Given the description of an element on the screen output the (x, y) to click on. 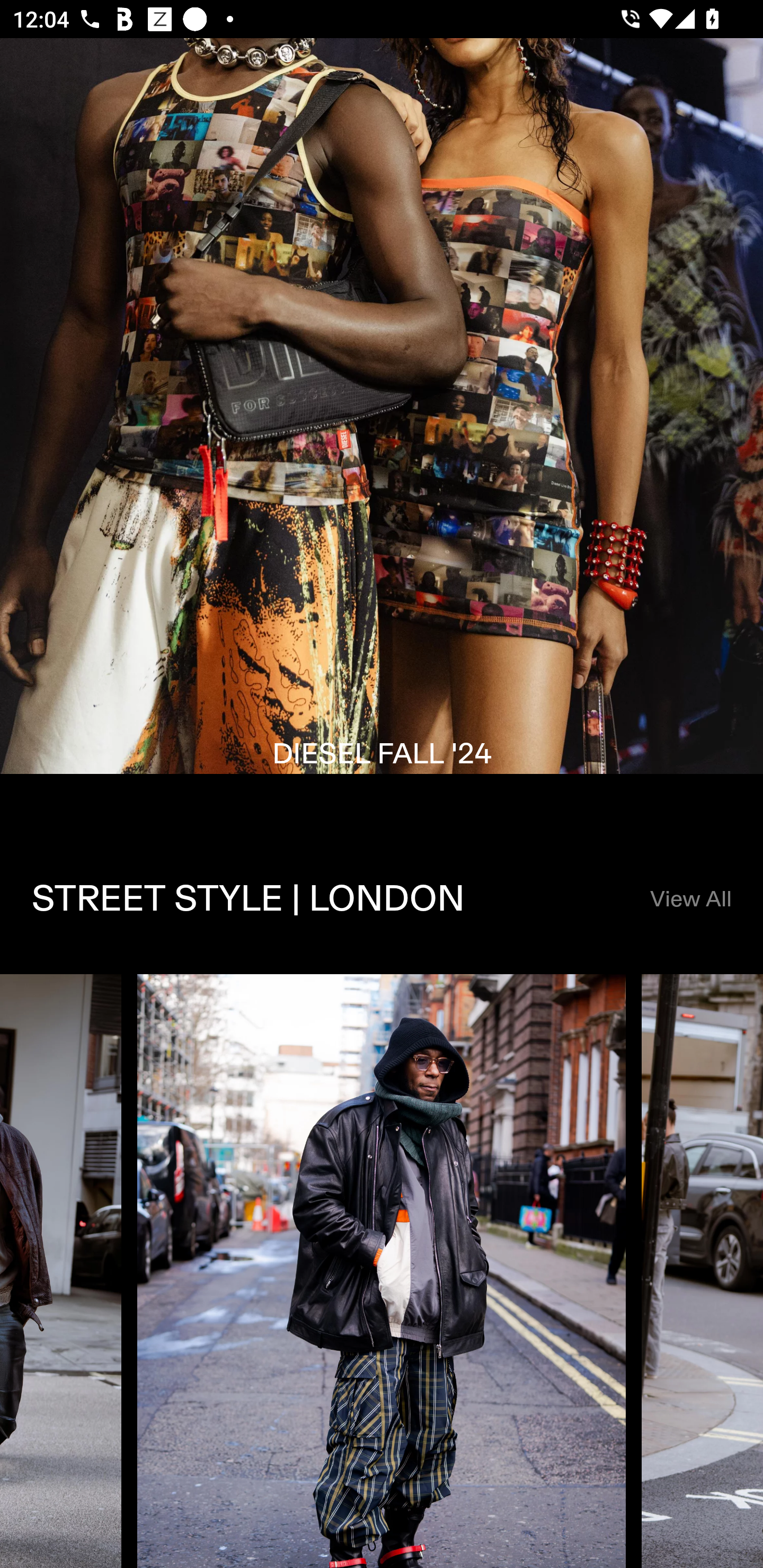
View All (690, 899)
